Given the description of an element on the screen output the (x, y) to click on. 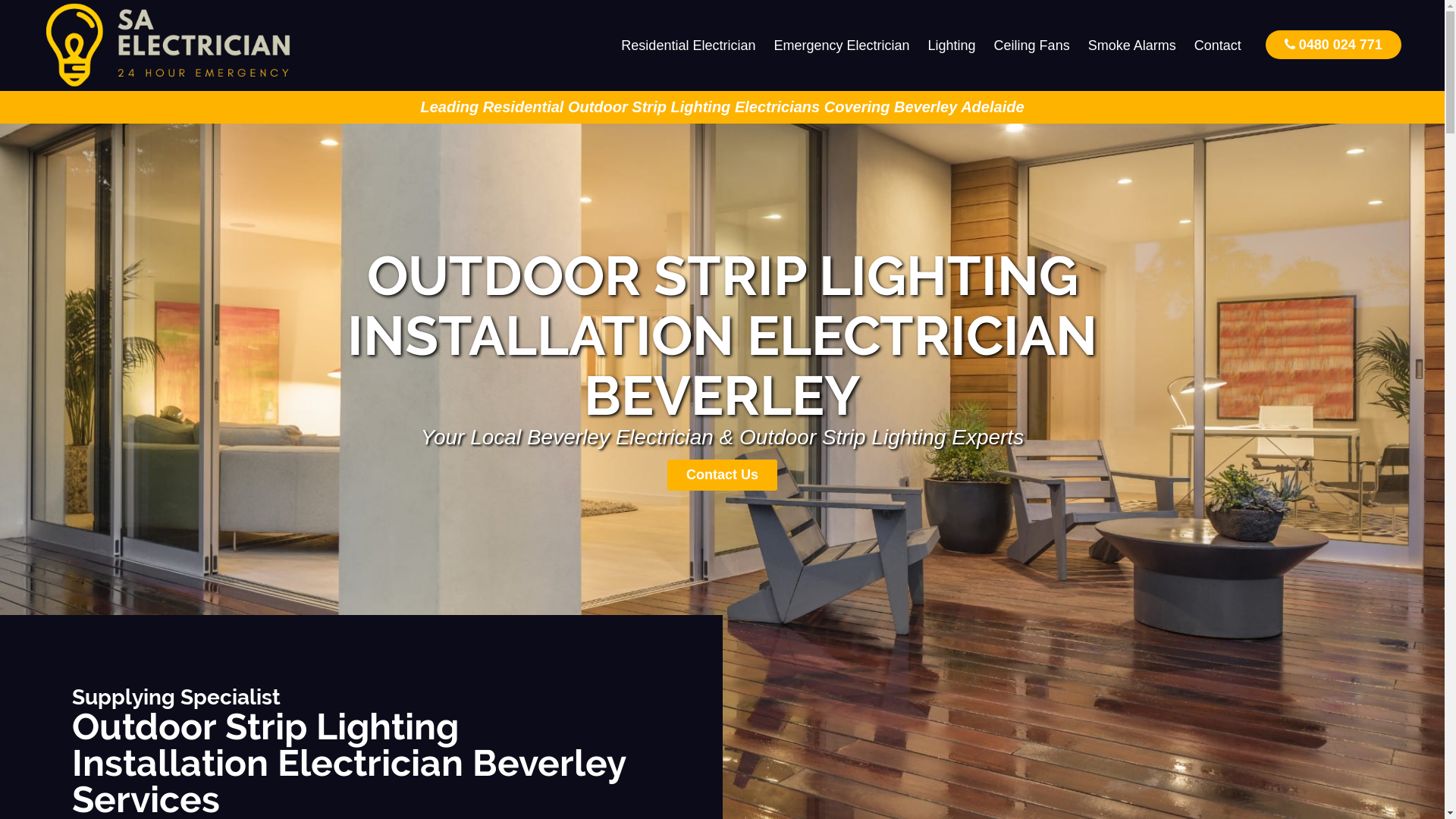
Lighting Element type: text (952, 45)
Ceiling Fans Element type: text (1032, 45)
Smoke Alarms Element type: text (1132, 45)
Residential Electrician Element type: text (687, 45)
0480 024 771 Element type: text (1333, 44)
Emergency Electrician Element type: text (841, 45)
Contact Us Element type: text (722, 474)
Contact Element type: text (1217, 45)
